Given the description of an element on the screen output the (x, y) to click on. 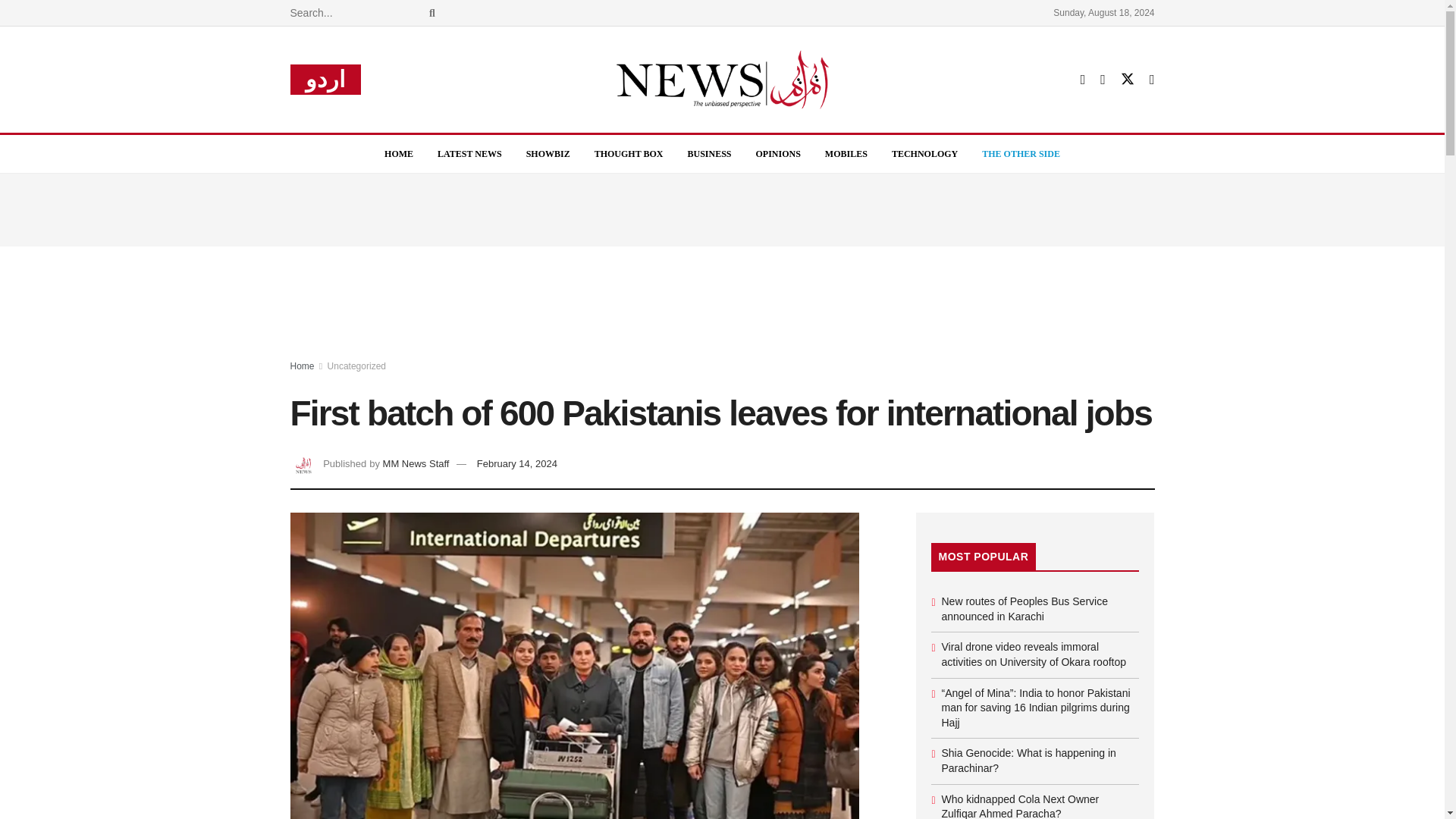
LATEST NEWS (469, 153)
TECHNOLOGY (924, 153)
BUSINESS (708, 153)
SHOWBIZ (547, 153)
THOUGHT BOX (628, 153)
MOBILES (845, 153)
HOME (398, 153)
OPINIONS (778, 153)
THE OTHER SIDE (1020, 153)
